Given the description of an element on the screen output the (x, y) to click on. 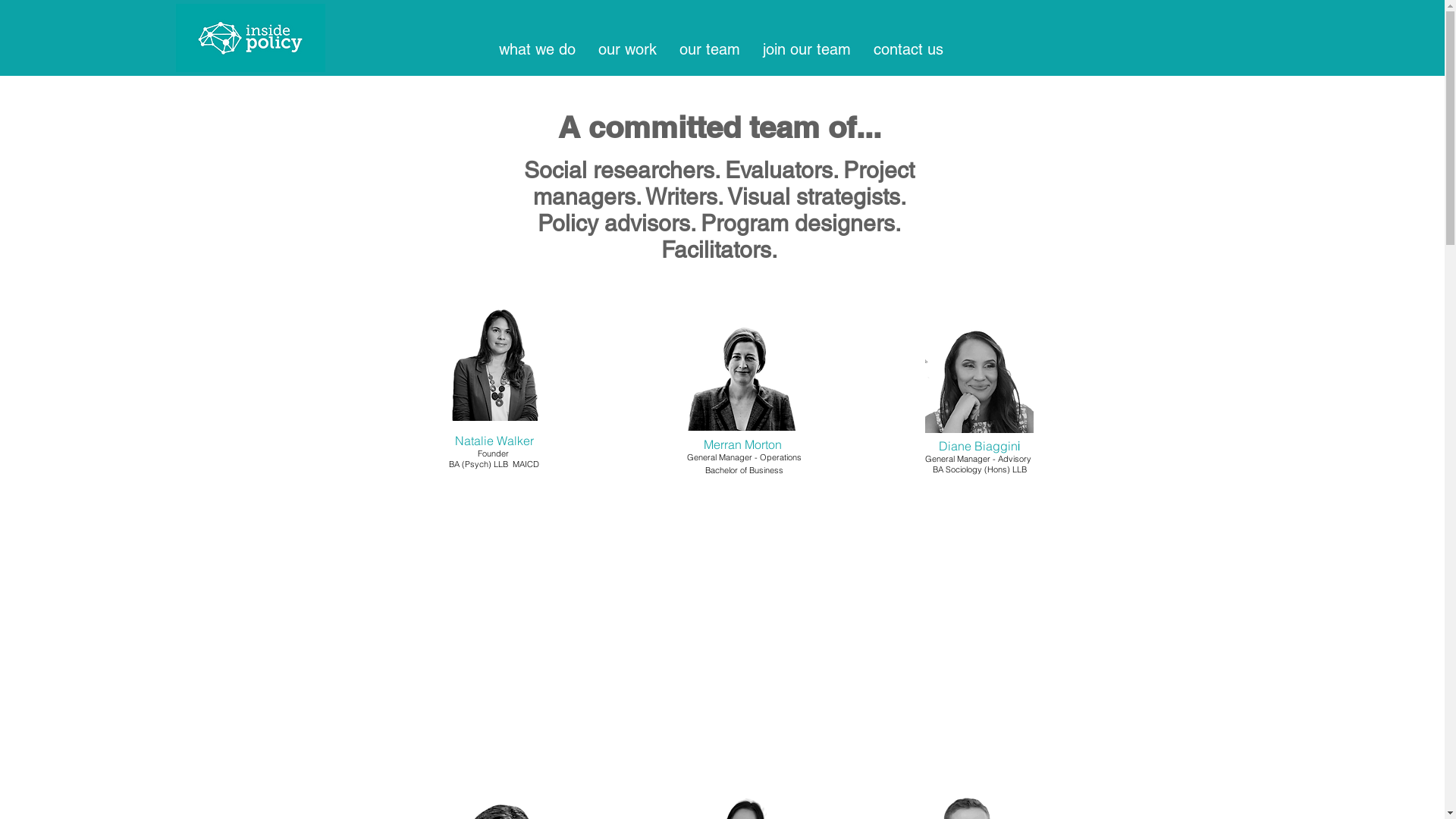
join our team Element type: text (805, 48)
contact us Element type: text (907, 48)
our team Element type: text (708, 48)
what we do Element type: text (536, 48)
Embedded Content Element type: hover (876, 151)
